Given the description of an element on the screen output the (x, y) to click on. 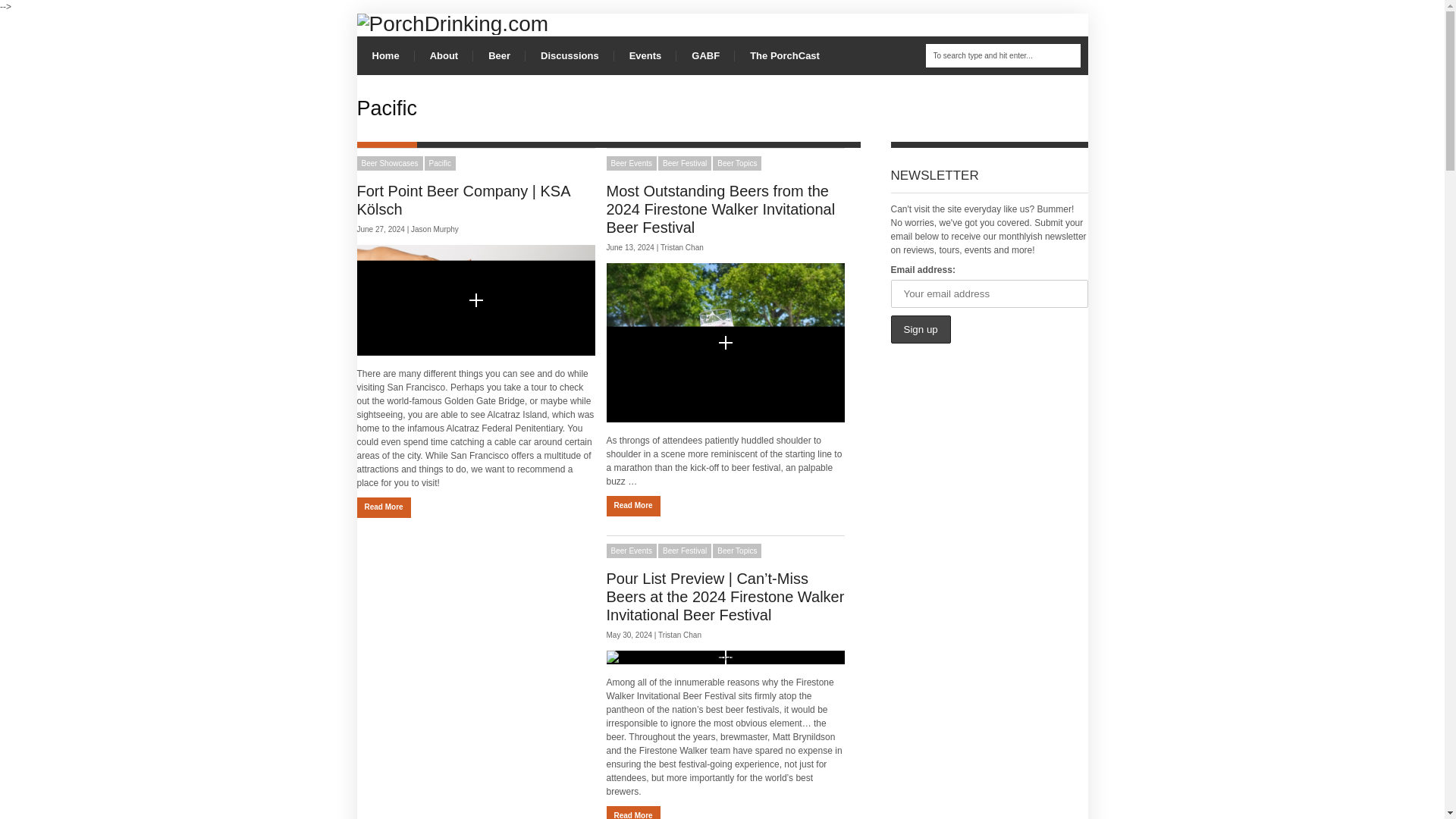
About (444, 55)
Home (384, 55)
Beer (499, 55)
Posts by Tristan Chan (679, 634)
Posts by Jason Murphy (434, 229)
Sign up (919, 329)
Events (645, 55)
Posts by Tristan Chan (682, 247)
GABF (706, 55)
Discussions (569, 55)
The PorchCast (784, 55)
To search type and hit enter... (1002, 55)
